Given the description of an element on the screen output the (x, y) to click on. 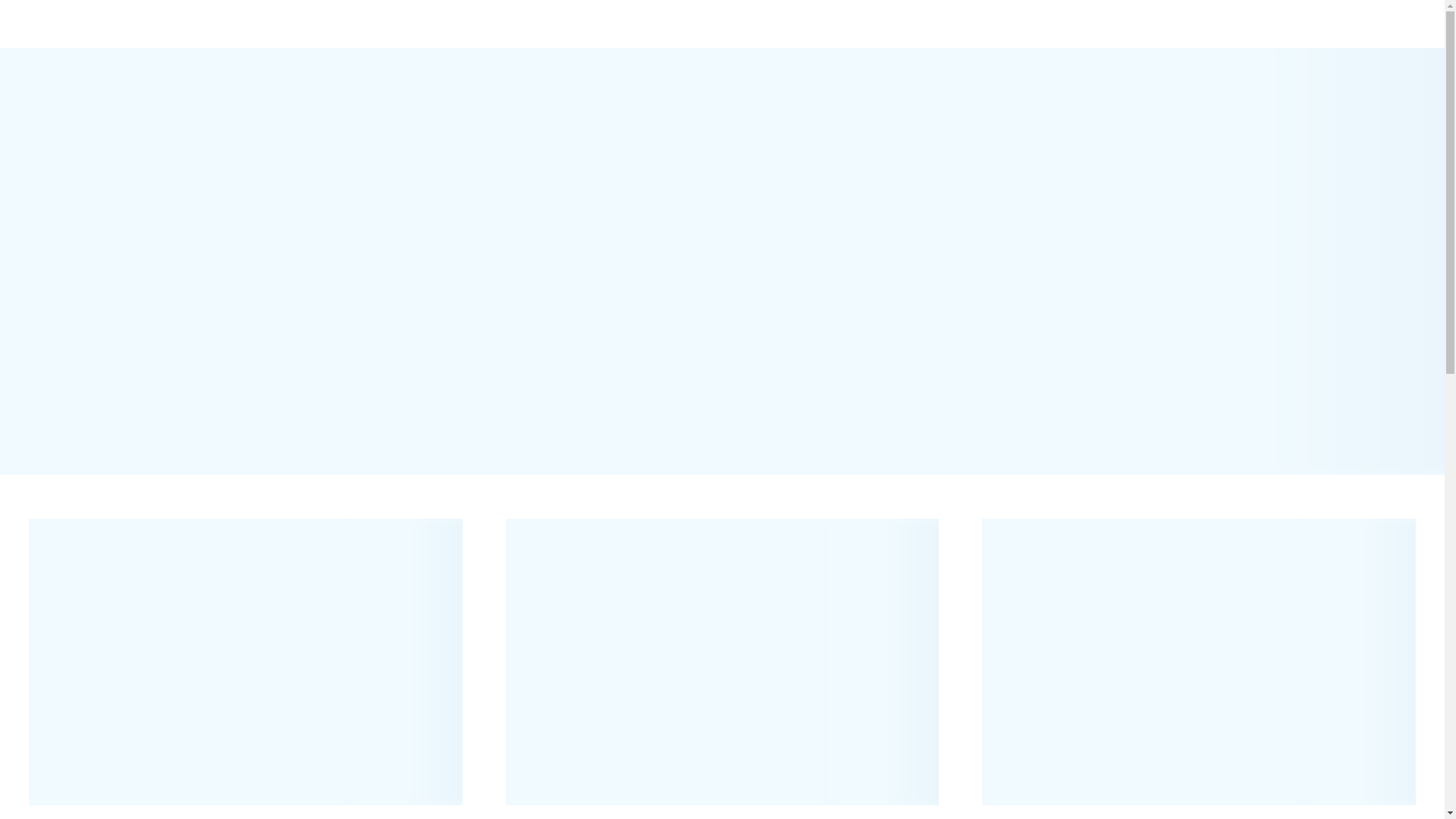
Brands (55, 18)
Shop Now (319, 574)
